Given the description of an element on the screen output the (x, y) to click on. 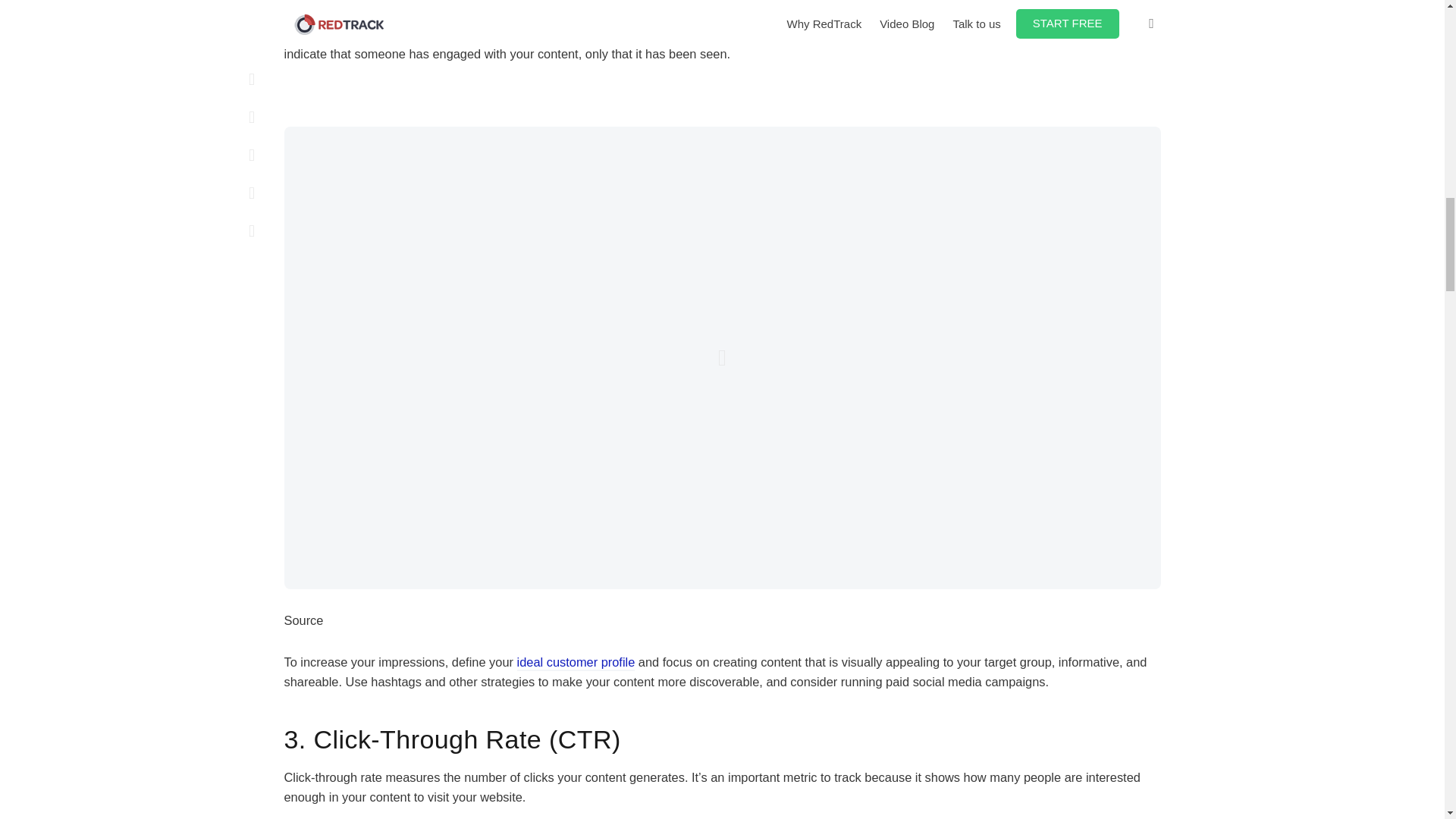
Source (303, 620)
ideal customer profile (575, 662)
